Given the description of an element on the screen output the (x, y) to click on. 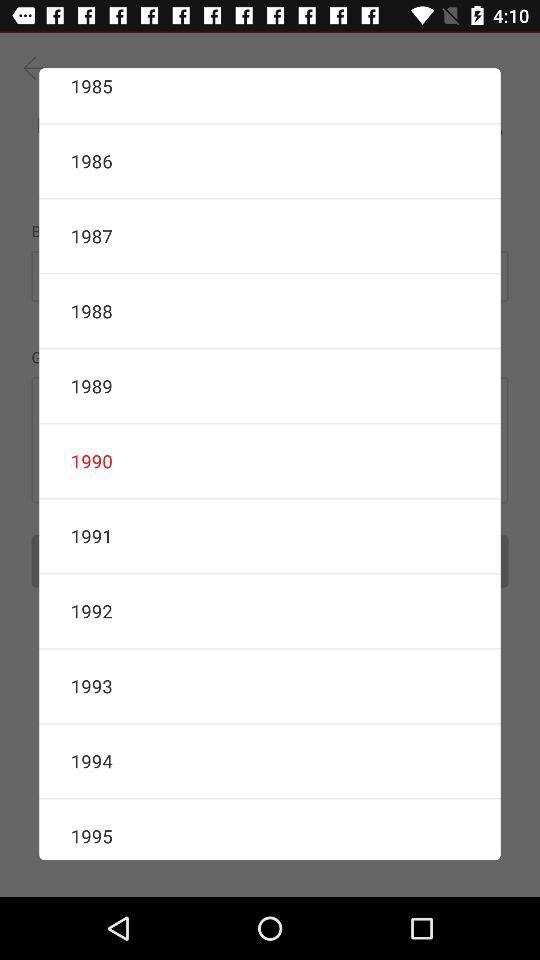
launch the icon below 1989 item (269, 461)
